Given the description of an element on the screen output the (x, y) to click on. 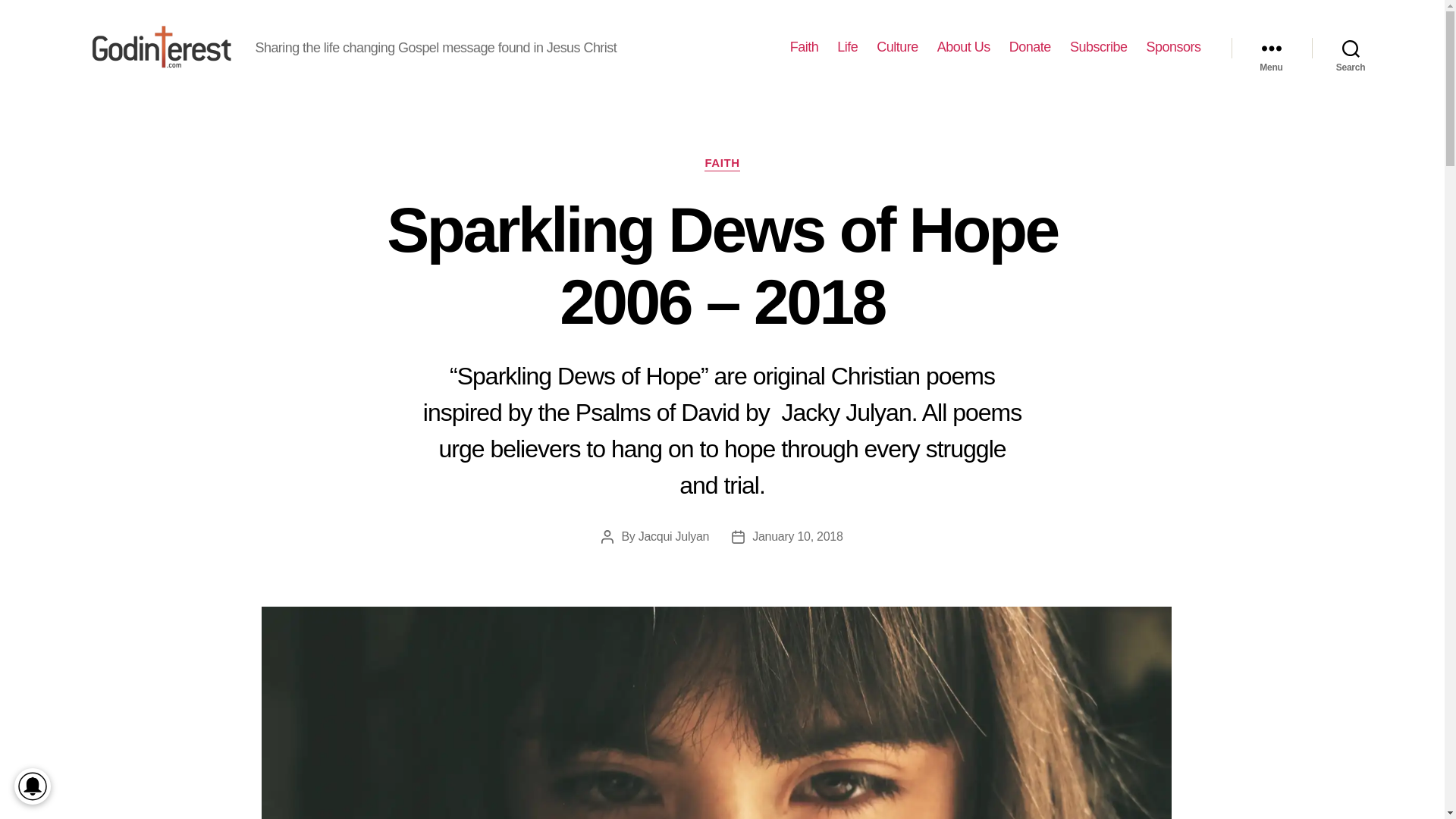
Donate (1030, 47)
Life (847, 47)
Sponsors (1172, 47)
Search (1350, 47)
Menu (1271, 47)
Jacqui Julyan (674, 535)
About Us (963, 47)
Culture (897, 47)
Subscribe (1098, 47)
FAITH (721, 163)
January 10, 2018 (797, 535)
Faith (804, 47)
